Given the description of an element on the screen output the (x, y) to click on. 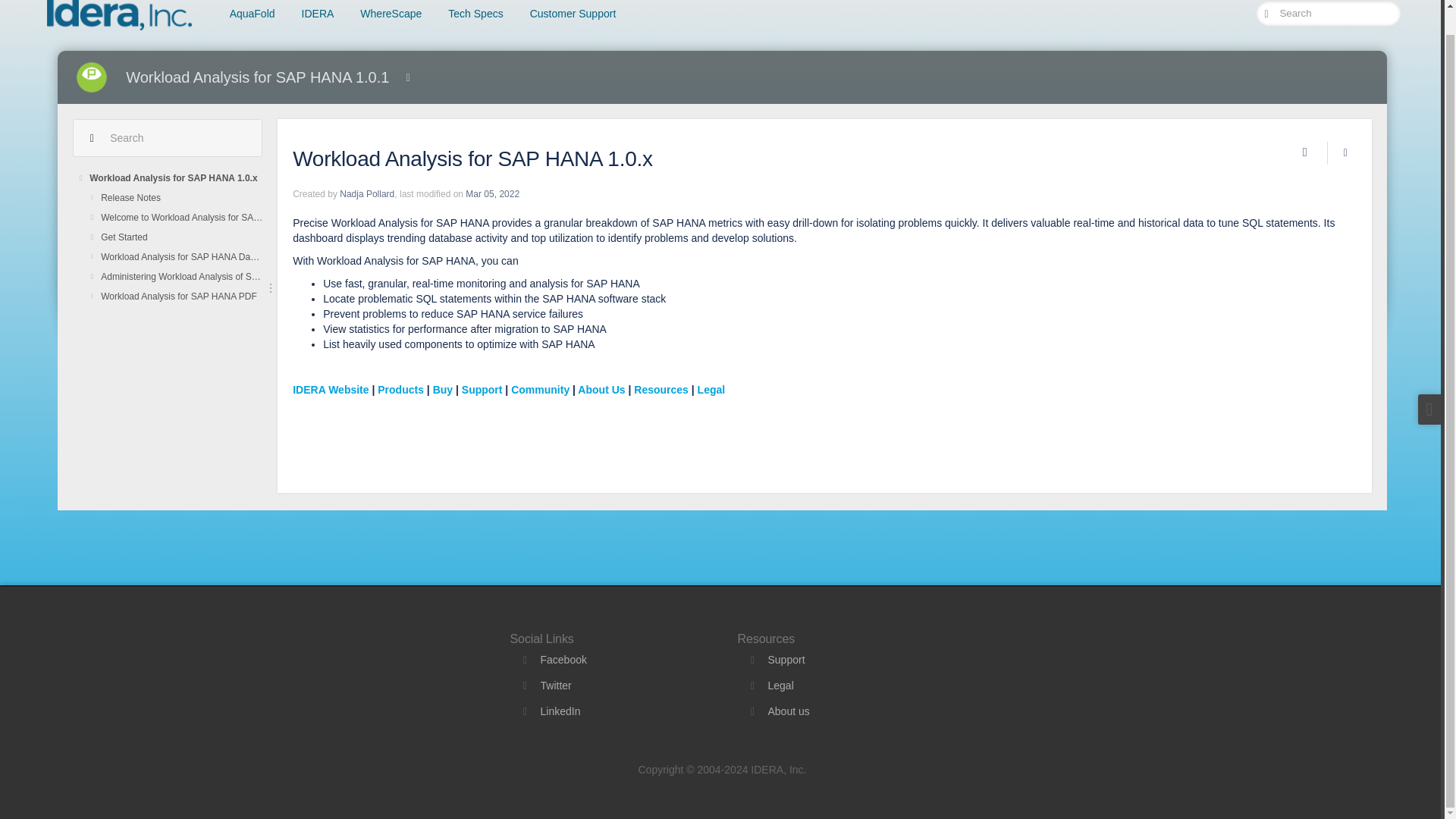
Release Notes (181, 198)
Workload Analysis for SAP HANA 1.0.x (175, 178)
Workload Analysis for SAP HANA 1.0.1 (256, 77)
WhereScape (390, 16)
Release Notes (181, 198)
Workload Analysis for SAP HANA 1.0.1 (256, 77)
Customer Support (572, 16)
Welcome to Workload Analysis for SAP HANA (181, 217)
Administering Workload Analysis of SAP HANA (181, 276)
Get Started (181, 237)
